Given the description of an element on the screen output the (x, y) to click on. 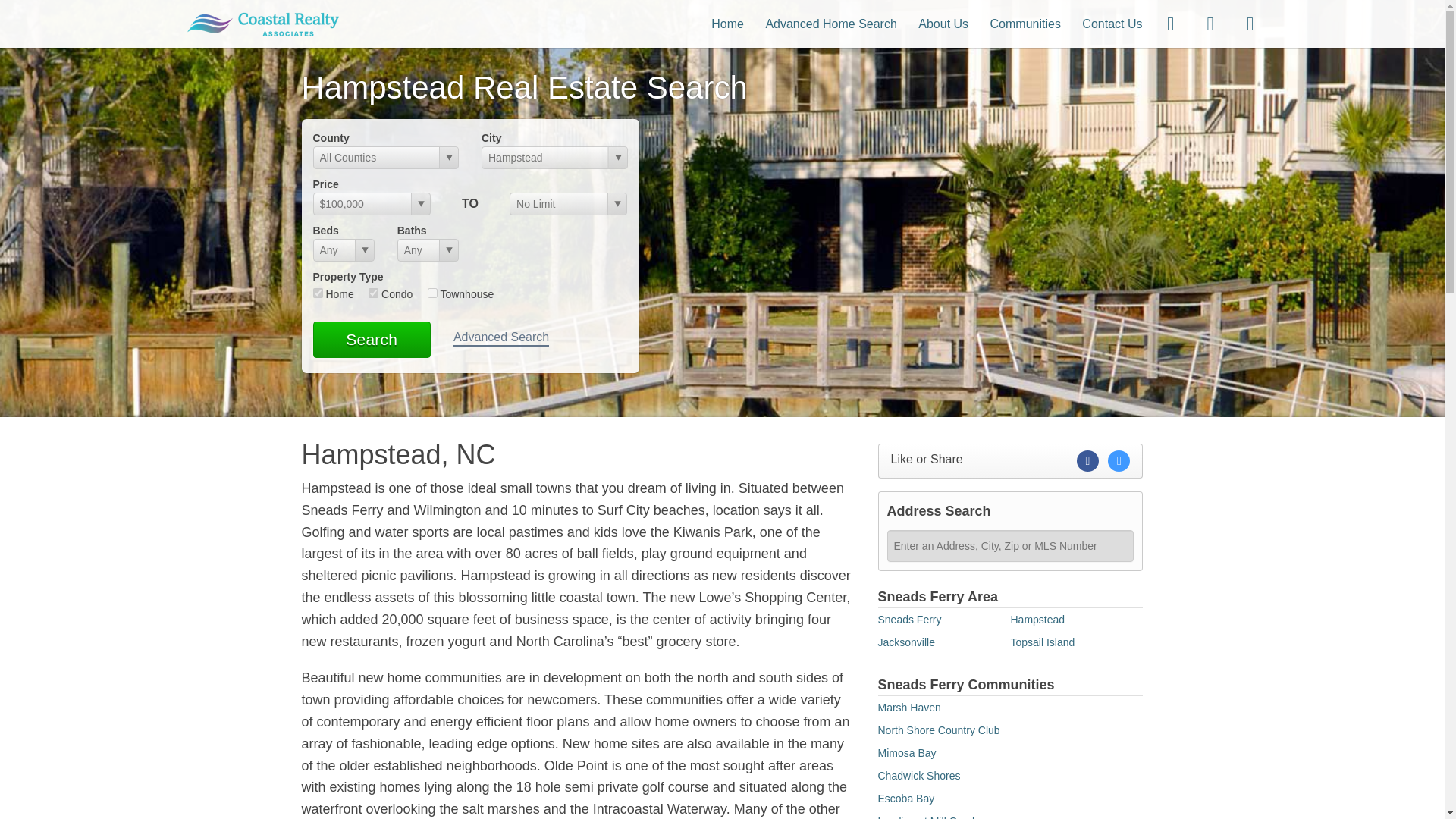
Like or Share (1009, 460)
Communities (1025, 23)
Home (727, 23)
Contact Us (1111, 23)
twn (433, 293)
Advanced Search (500, 338)
con (373, 293)
Advanced Home Search (830, 23)
Click here to see all property listings in Marsh Haven. (908, 707)
Neighborhood of Escoba Bay in Sneads Ferry. (905, 798)
See all Landing at Mill Creek houses for sale. (927, 816)
Sneads Ferry (909, 619)
Homesinsneadsferry.com (263, 23)
res (317, 293)
Search (371, 339)
